Given the description of an element on the screen output the (x, y) to click on. 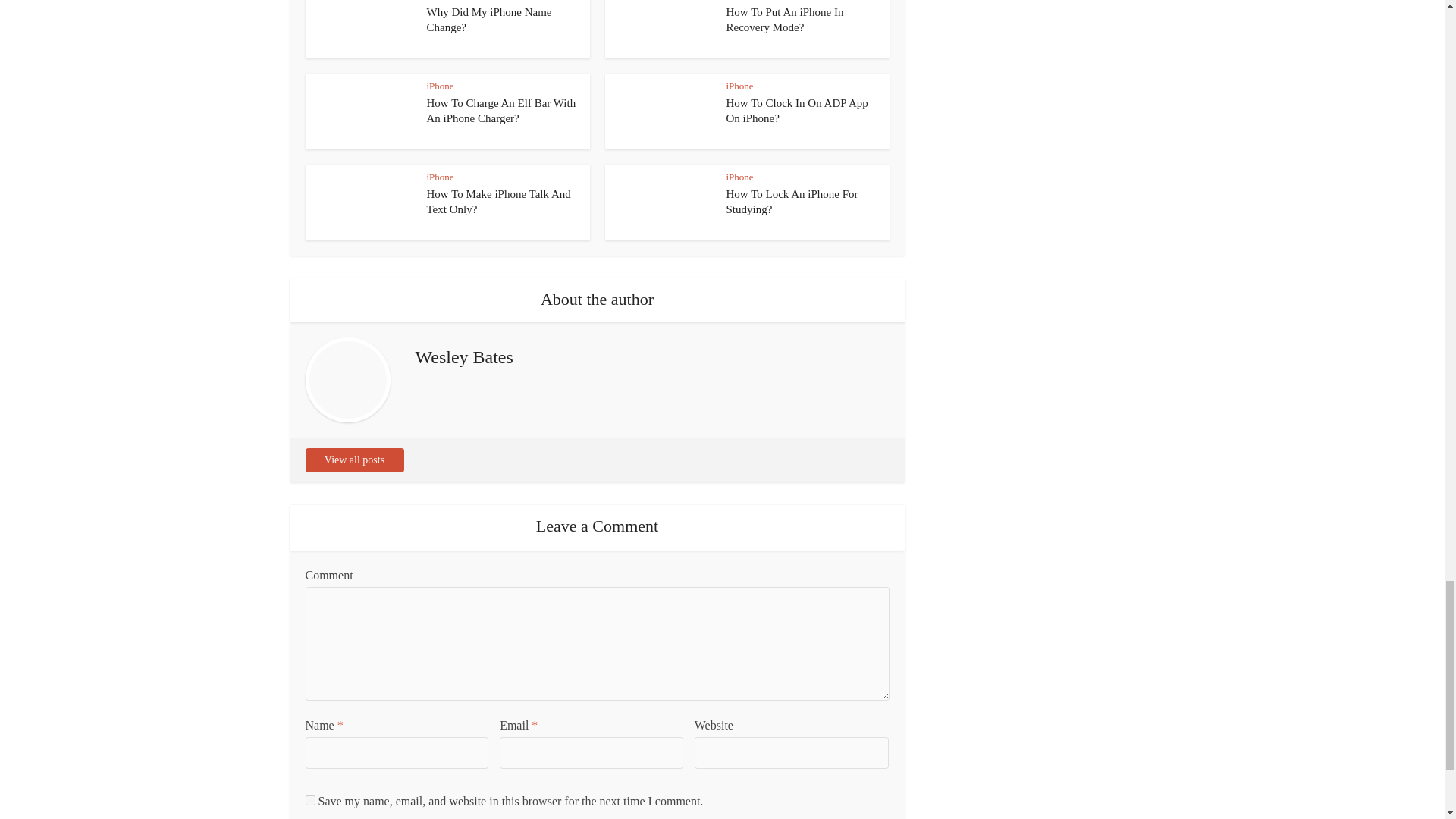
Why Did My iPhone Name Change? (488, 19)
How To Put An iPhone In Recovery Mode? (785, 19)
How To Clock In On ADP App On iPhone? (796, 110)
iPhone (439, 85)
Why Did My iPhone Name Change? (488, 19)
How To Charge An Elf Bar With An iPhone Charger? (500, 110)
How To Put An iPhone In Recovery Mode? (785, 19)
How To Charge An Elf Bar With An iPhone Charger? (500, 110)
yes (309, 800)
